Given the description of an element on the screen output the (x, y) to click on. 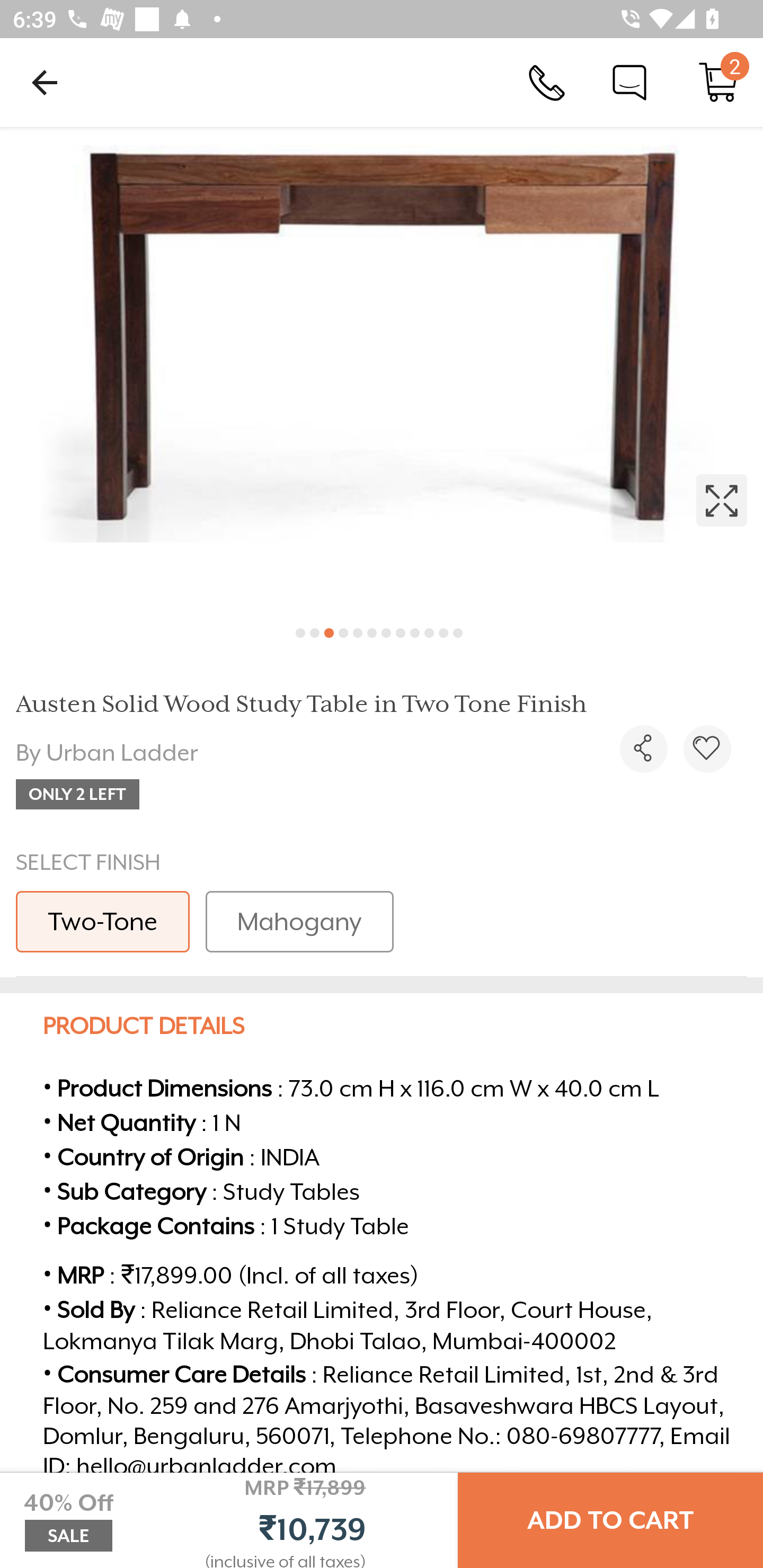
Navigate up (44, 82)
Call Us (546, 81)
Chat (629, 81)
Cart (718, 81)
 (381, 370)
 (643, 748)
 (706, 748)
Two-Tone (102, 920)
Mahogany (299, 920)
ADD TO CART (610, 1520)
